Given the description of an element on the screen output the (x, y) to click on. 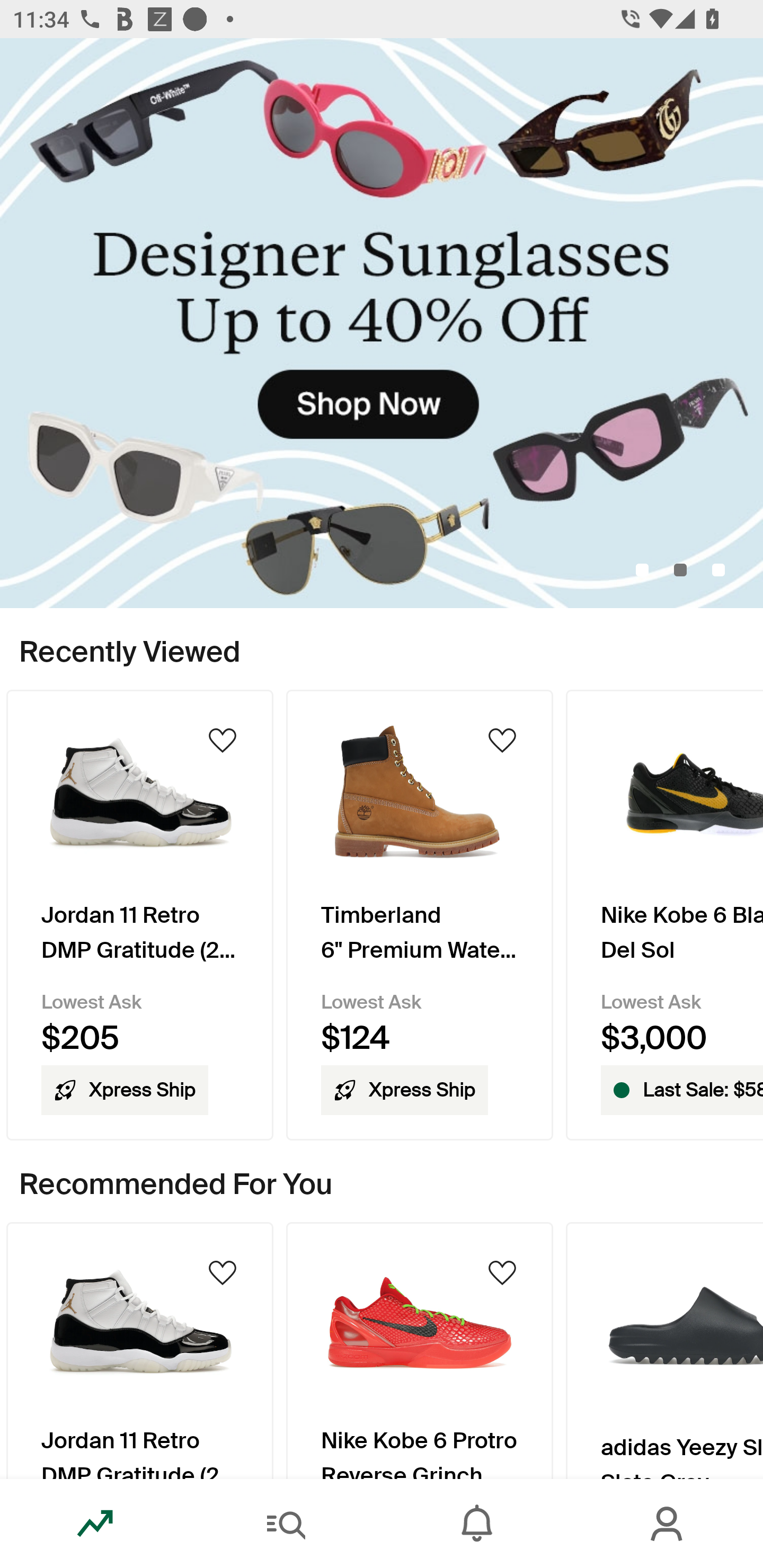
DesignerSunglassesUpto40_Off_Primary_Mobile.jpg (381, 322)
Product Image Jordan 11 Retro DMP Gratitude (2023) (139, 1349)
Product Image Nike Kobe 6 Protro Reverse Grinch (419, 1349)
Product Image adidas Yeezy Slide Slate Grey (664, 1349)
Search (285, 1523)
Inbox (476, 1523)
Account (667, 1523)
